Given the description of an element on the screen output the (x, y) to click on. 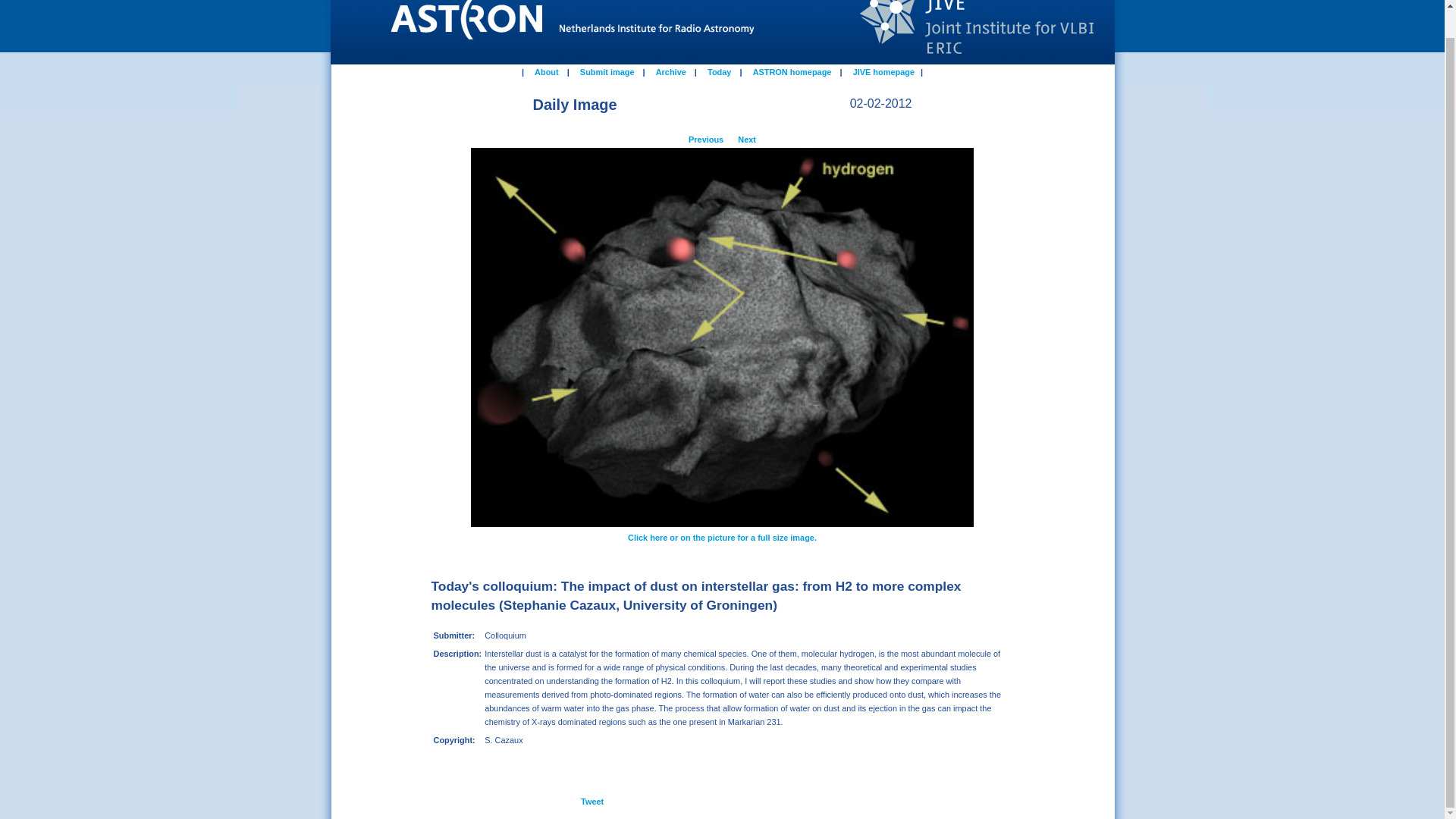
Previous (707, 137)
Click here or on the picture for a full size image. (722, 535)
Archive (671, 70)
About (546, 70)
Submit image (607, 70)
Next (745, 137)
Tweet (591, 799)
JIVE homepage (883, 70)
ASTRON homepage (792, 70)
Today (719, 70)
